Given the description of an element on the screen output the (x, y) to click on. 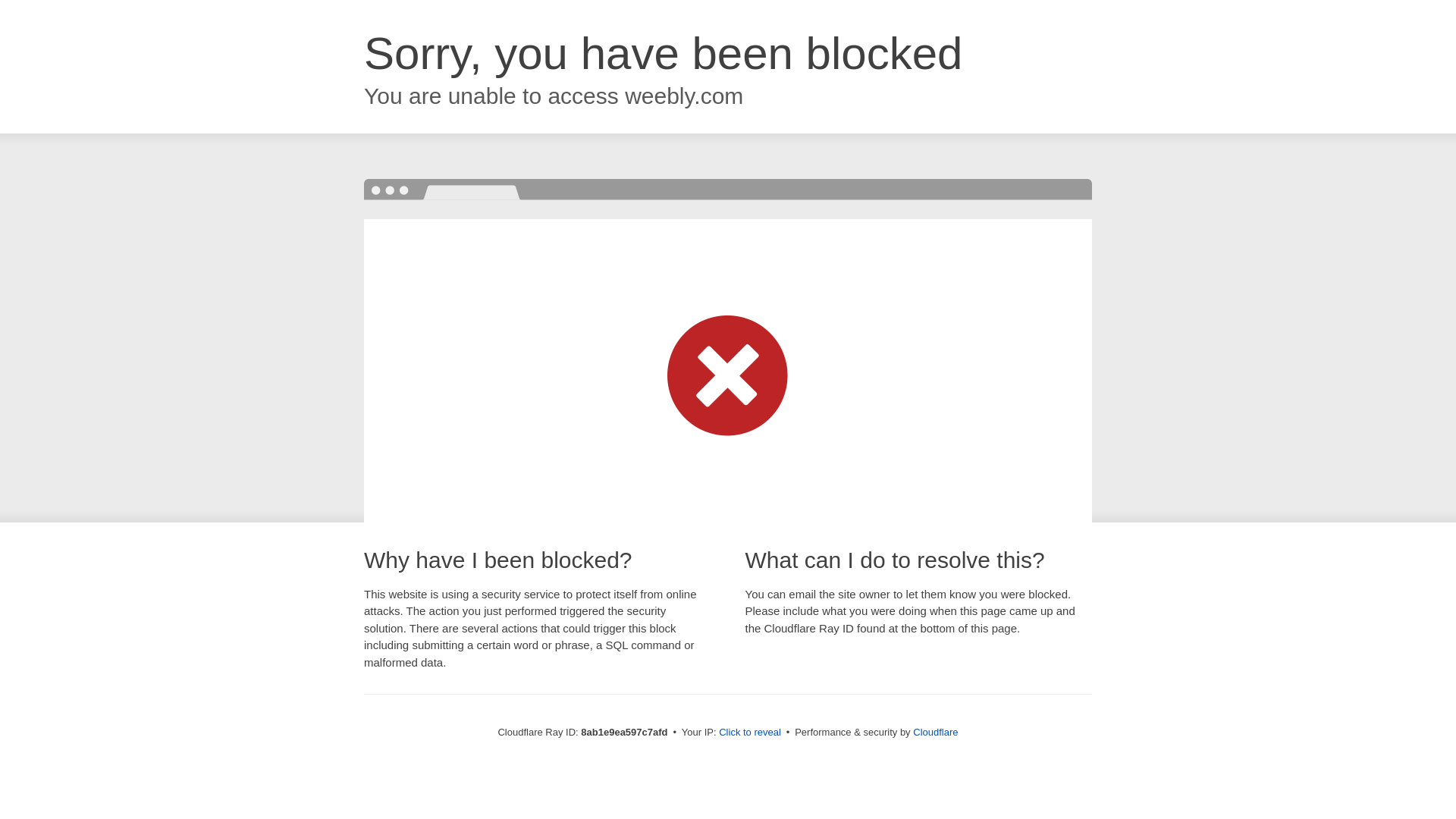
Cloudflare (935, 731)
Click to reveal (749, 732)
